Given the description of an element on the screen output the (x, y) to click on. 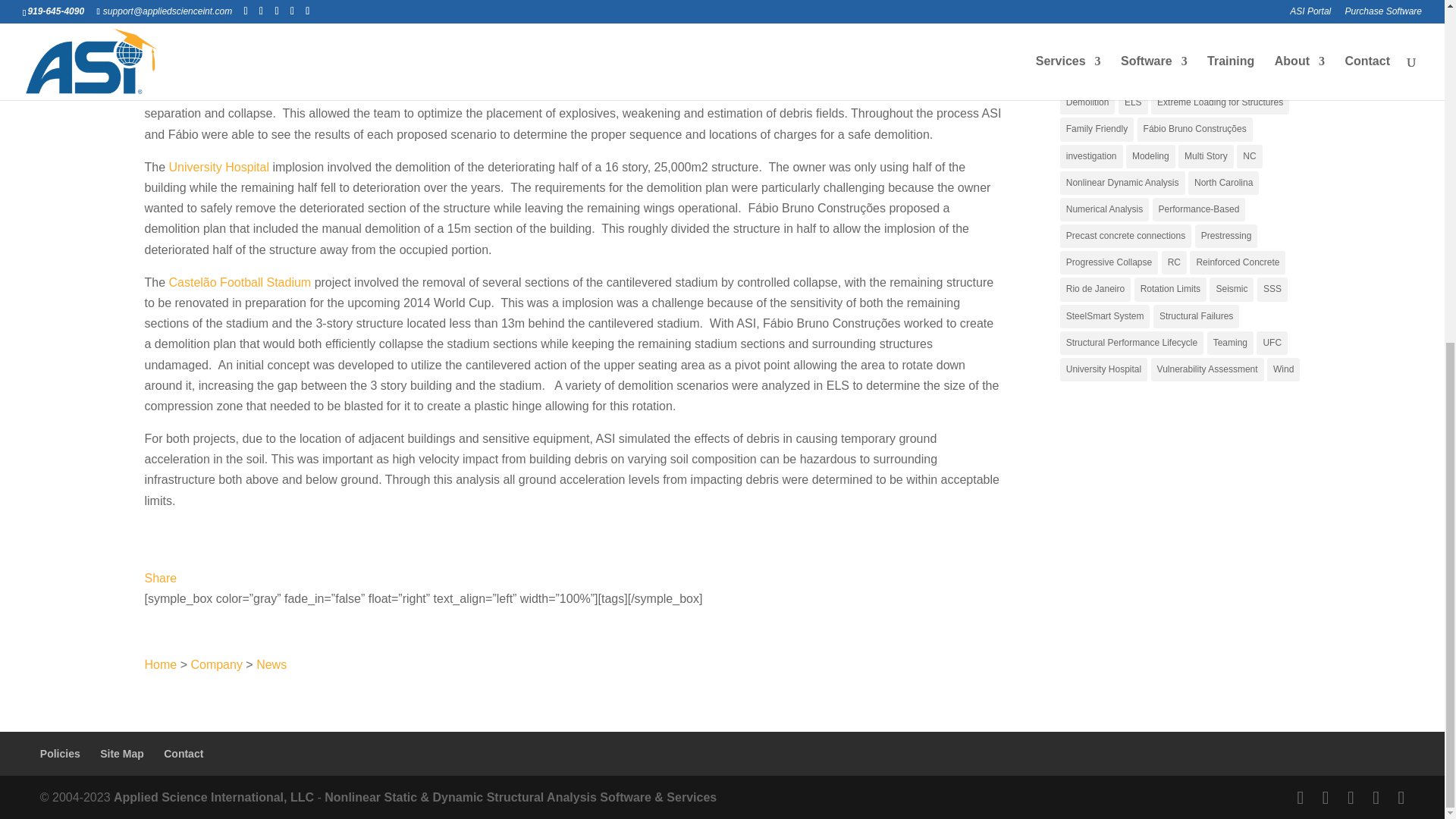
News (271, 664)
Home (160, 664)
University Hospital Implosion (218, 166)
Advanced Structural Engineering (213, 797)
Company (215, 664)
